Given the description of an element on the screen output the (x, y) to click on. 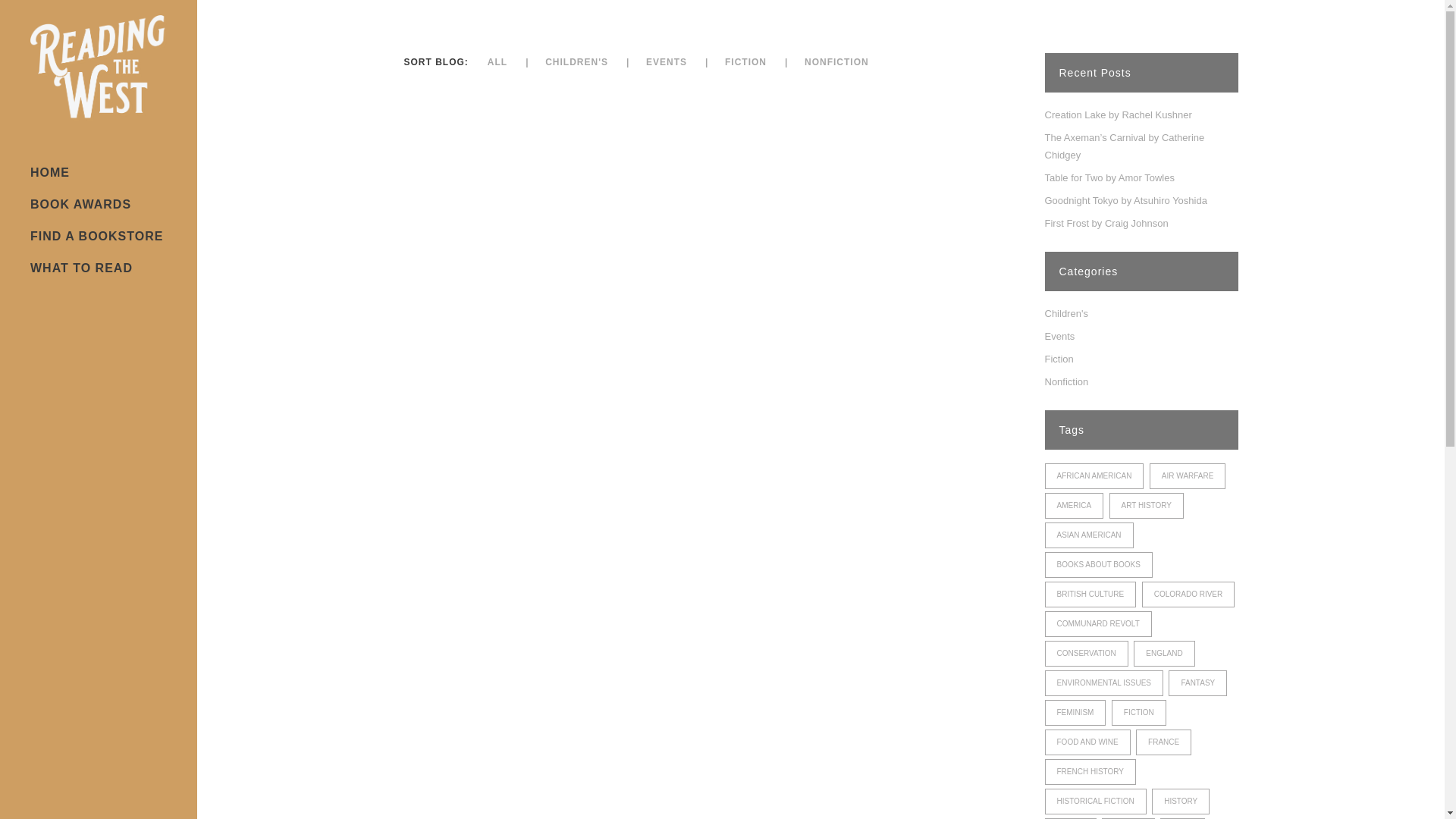
Nonfiction (1067, 381)
Table for Two by Amor Towles (1109, 177)
HOME (98, 173)
FIND A BOOKSTORE (98, 236)
Children's (1066, 313)
AFRICAN AMERICAN (1094, 475)
Events (1060, 336)
BOOK AWARDS (98, 204)
Fiction (1059, 358)
AIR WARFARE (1187, 475)
